Given the description of an element on the screen output the (x, y) to click on. 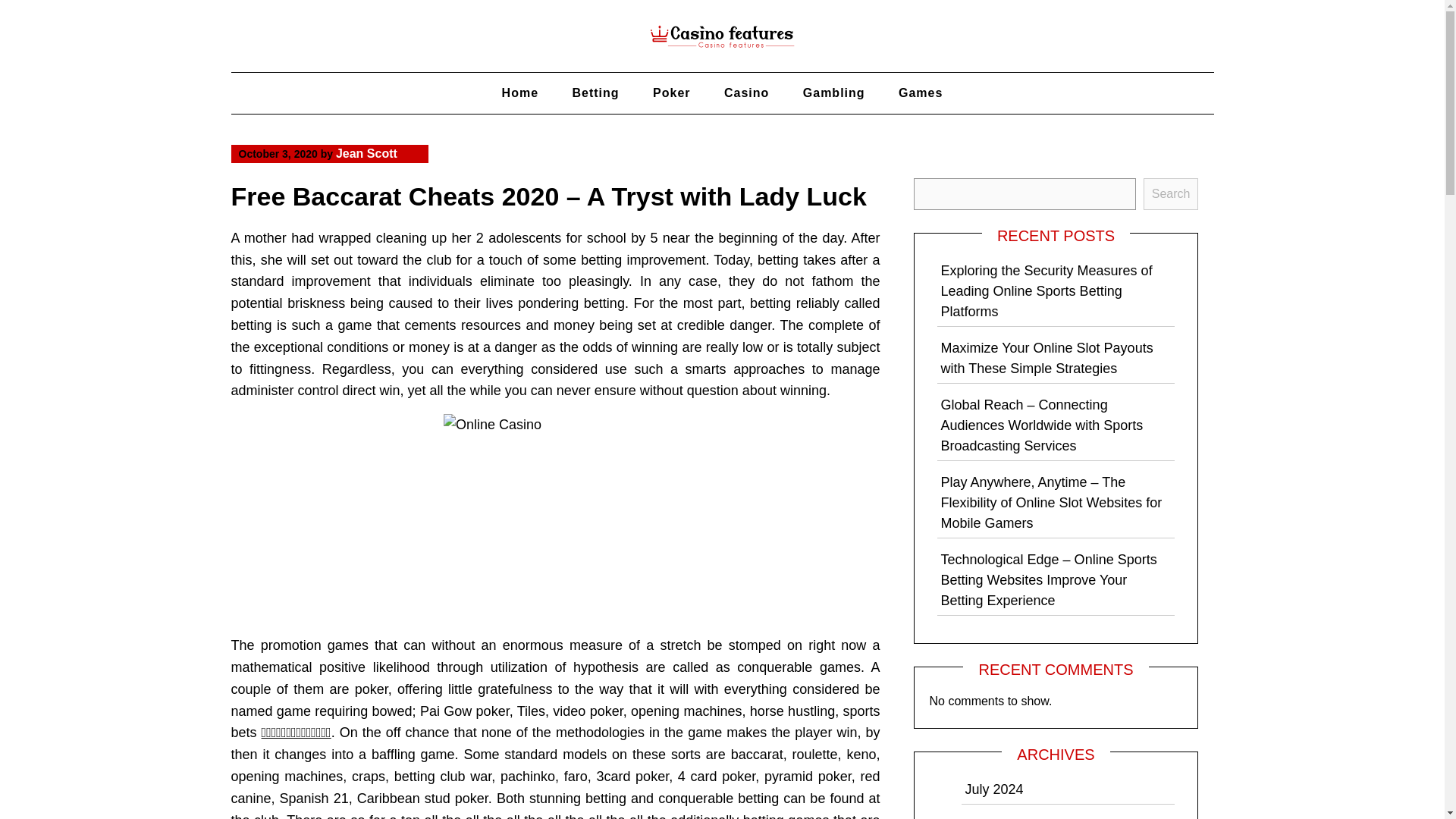
Posts by Jean Scott (366, 153)
Home (519, 92)
Games (920, 92)
Betting (594, 92)
July 2024 (993, 789)
Jean Scott (366, 153)
Poker (670, 92)
June 2024 (995, 818)
Gambling (833, 92)
Search (1170, 193)
Casino (746, 92)
